Given the description of an element on the screen output the (x, y) to click on. 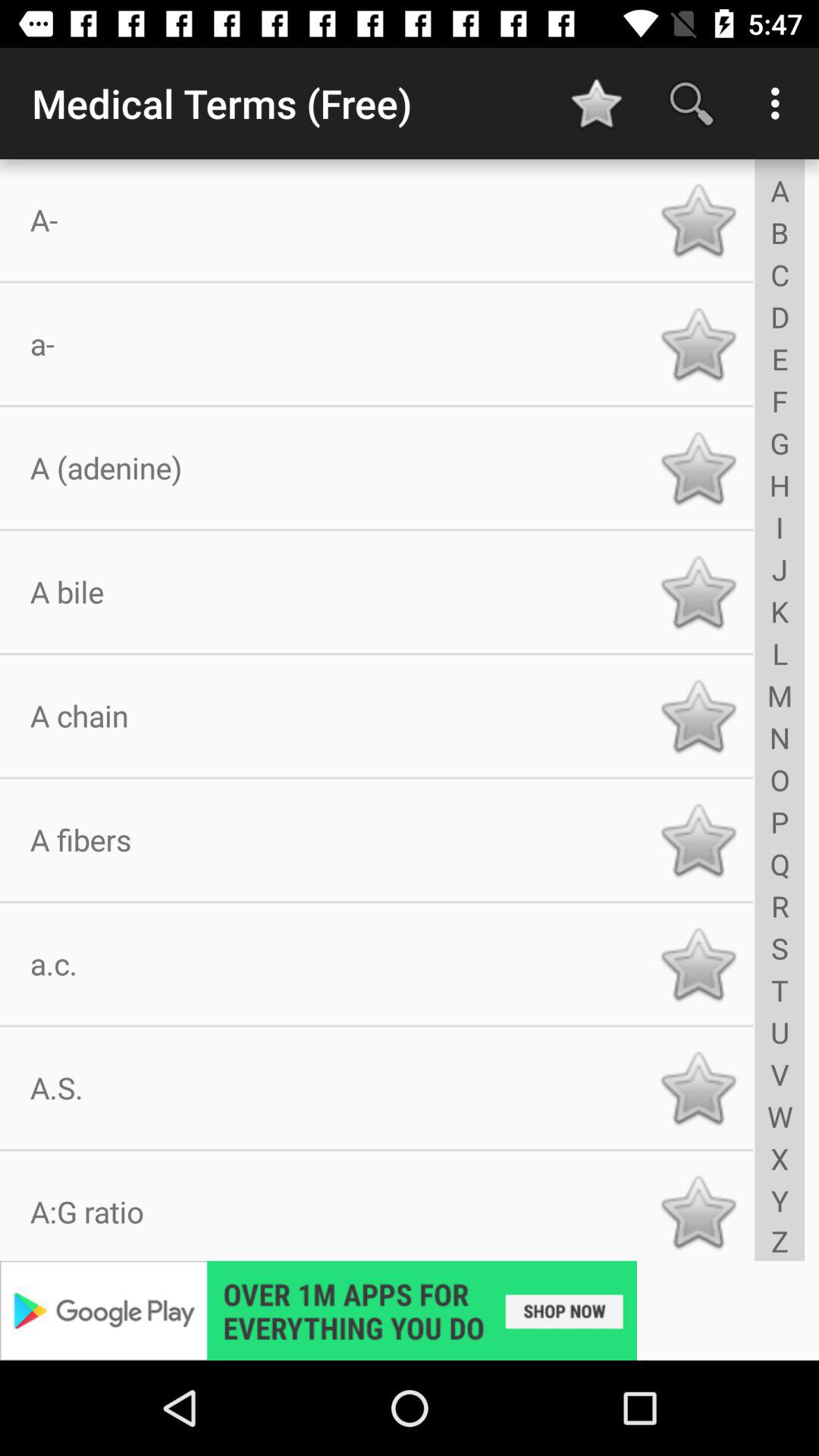
advertisement for google play (409, 1310)
